Given the description of an element on the screen output the (x, y) to click on. 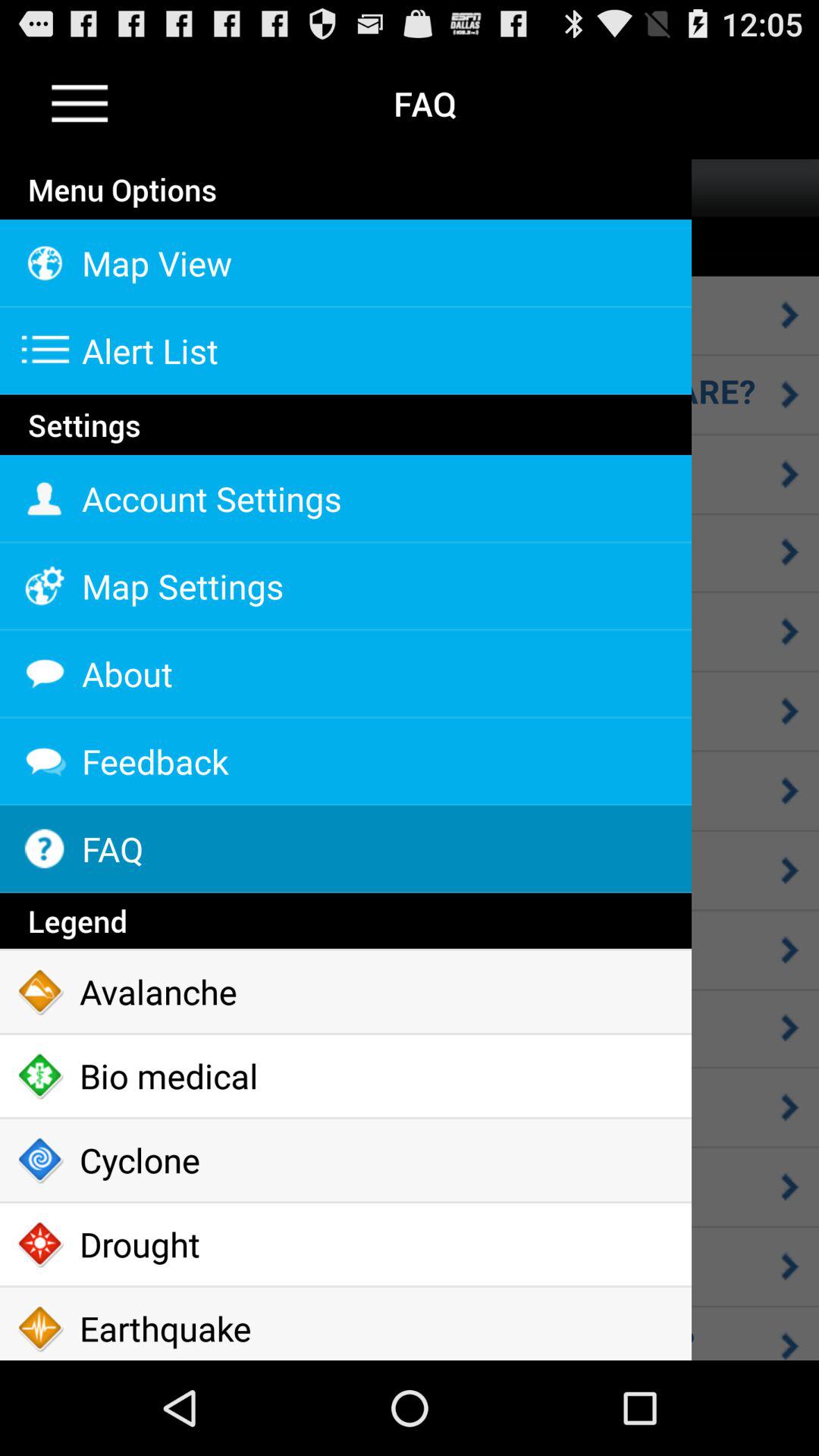
turn off icon above settings (345, 395)
